Given the description of an element on the screen output the (x, y) to click on. 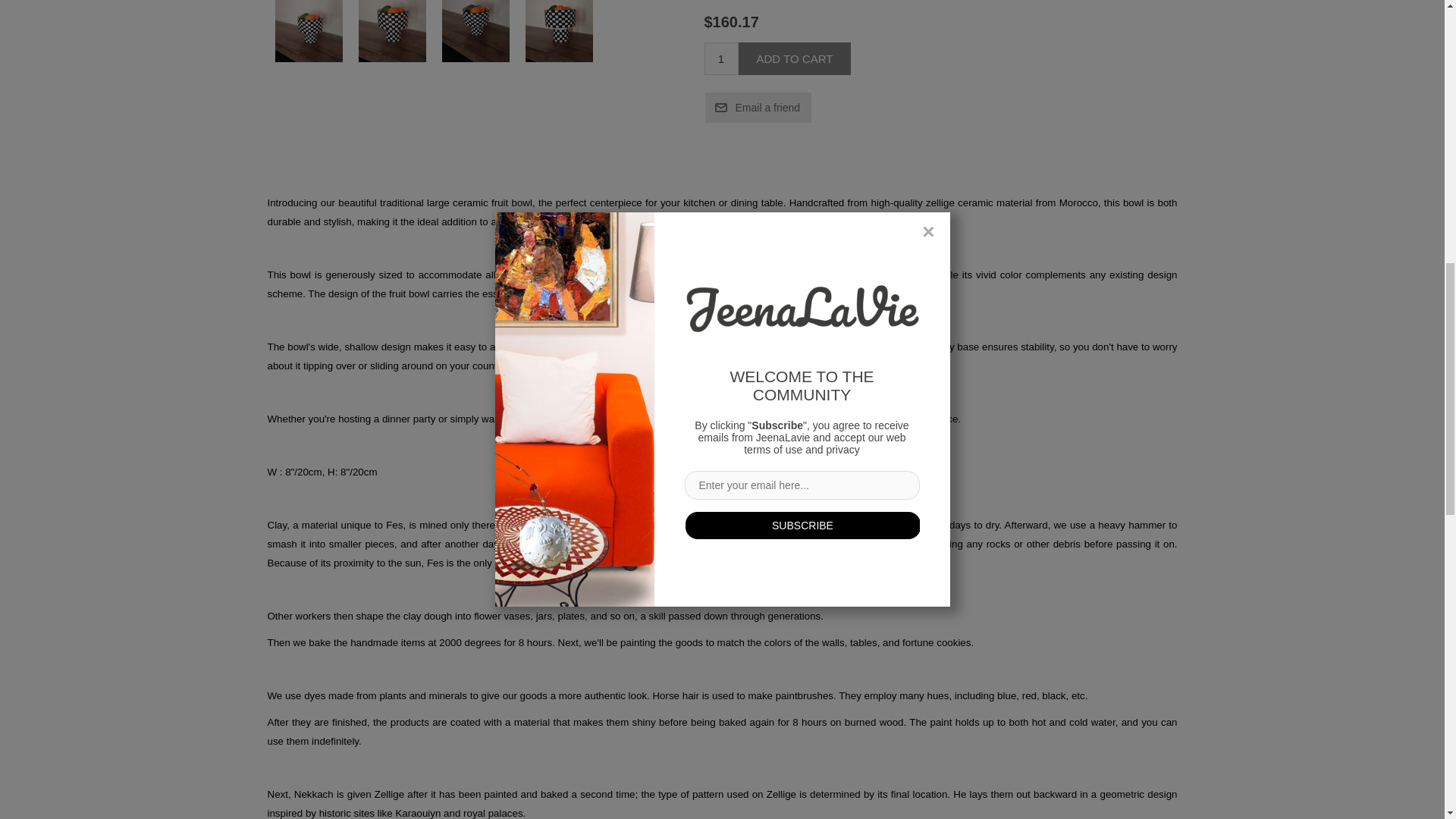
1 (720, 58)
Add to cart (794, 58)
Email a friend (758, 107)
